Given the description of an element on the screen output the (x, y) to click on. 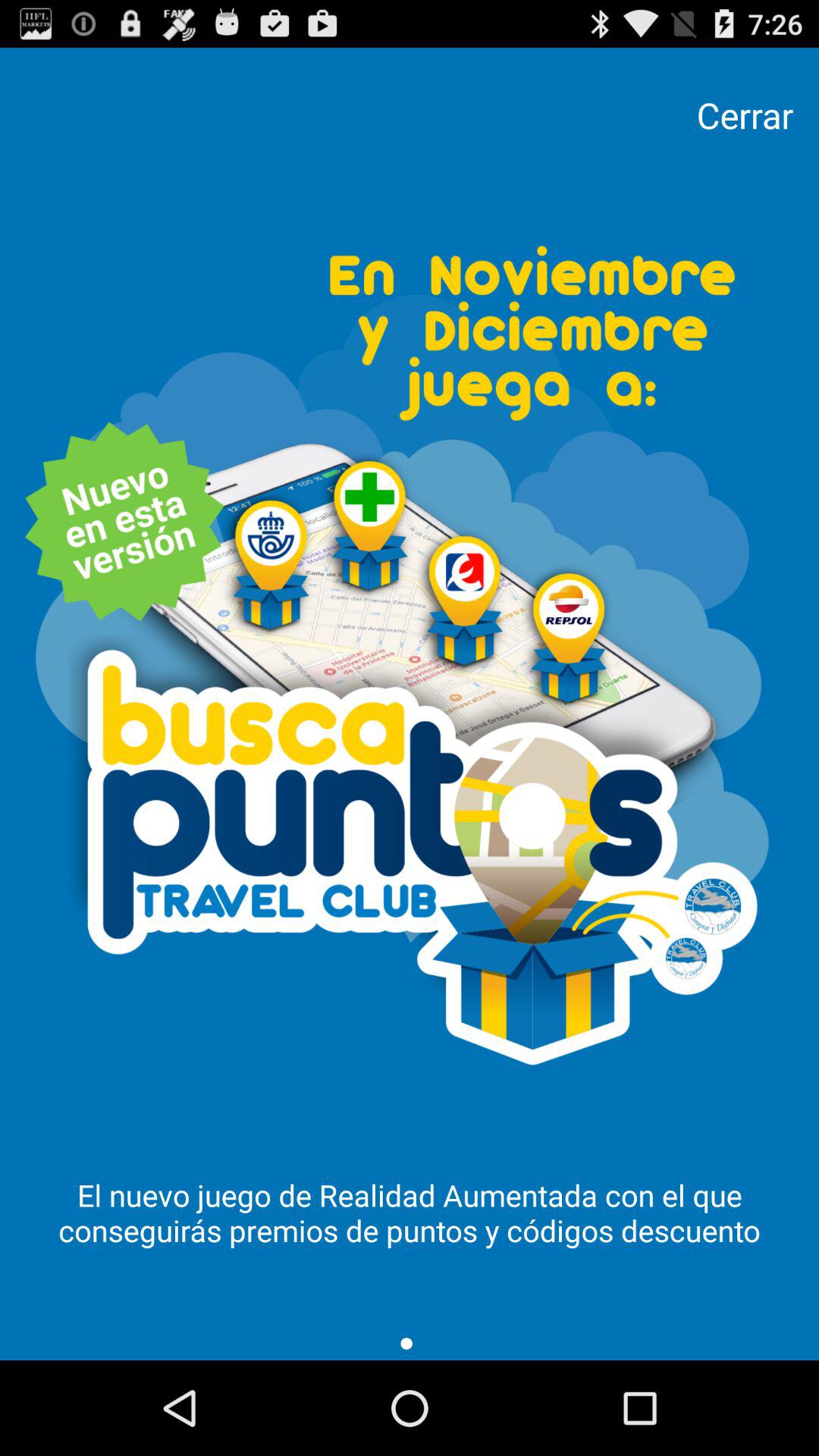
tap cerrar (744, 115)
